Given the description of an element on the screen output the (x, y) to click on. 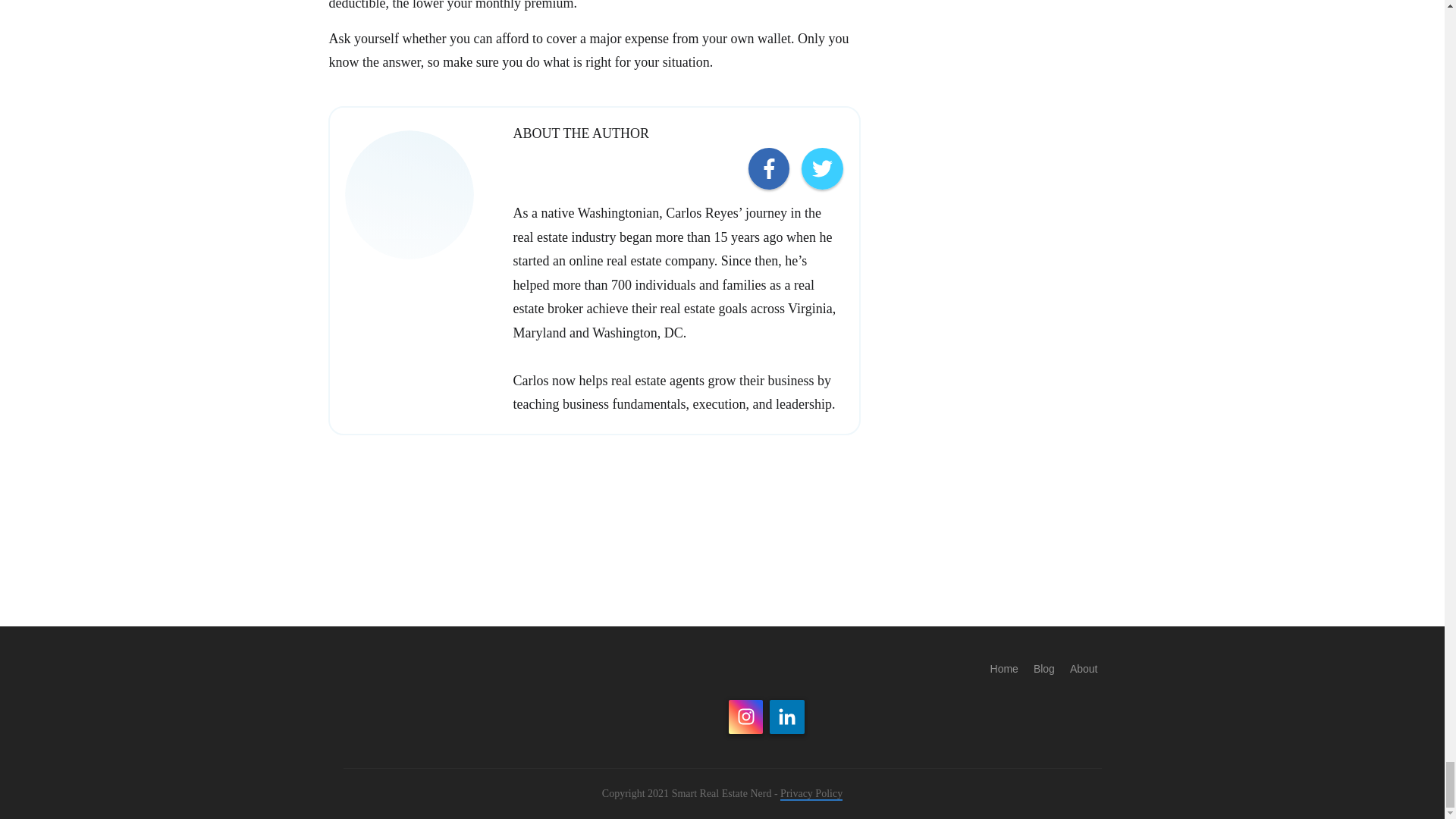
Home (1003, 668)
undefined (444, 171)
Blog (1043, 668)
About (1083, 668)
